Given the description of an element on the screen output the (x, y) to click on. 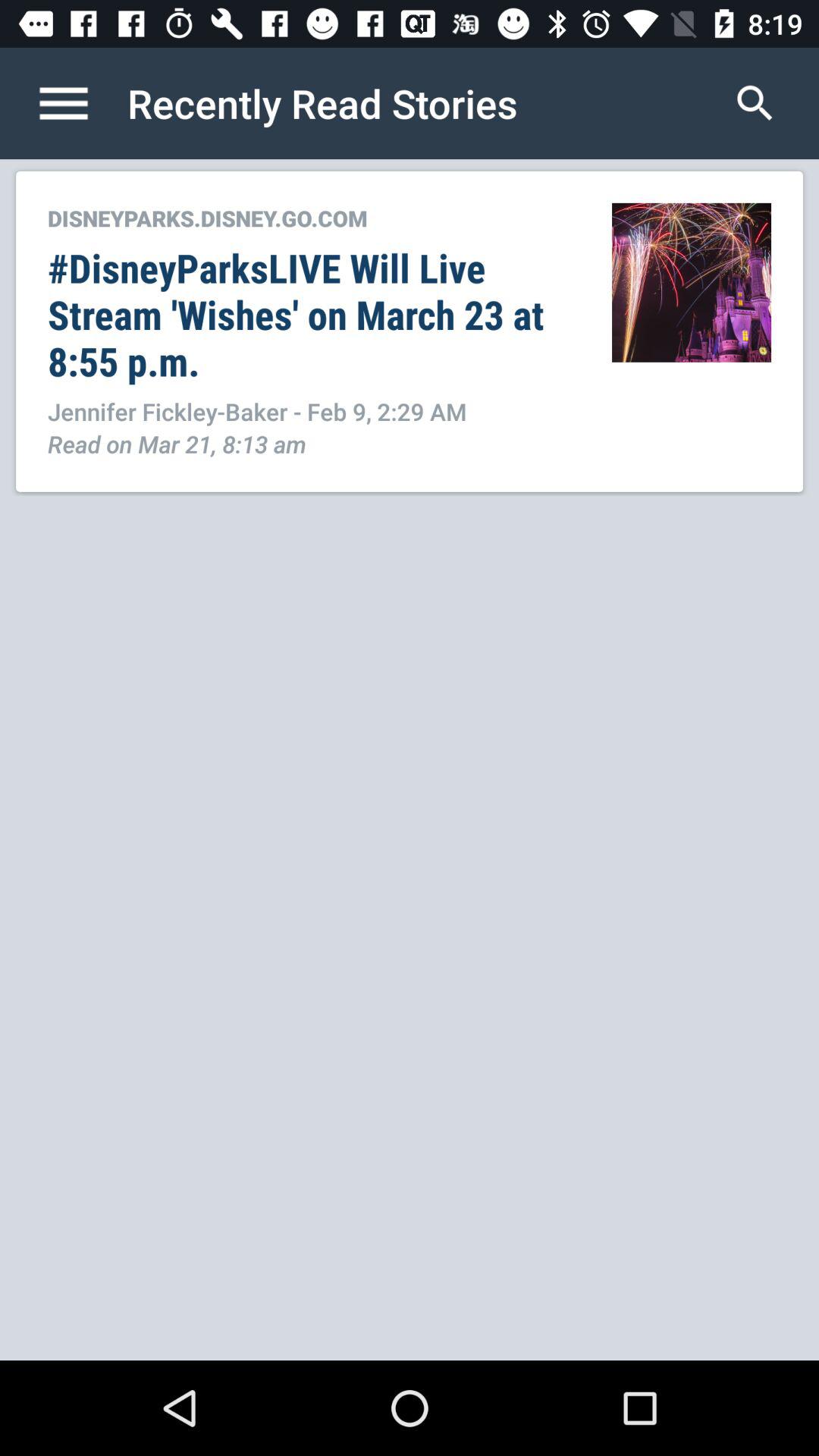
launch the item next to recently read stories item (755, 103)
